Given the description of an element on the screen output the (x, y) to click on. 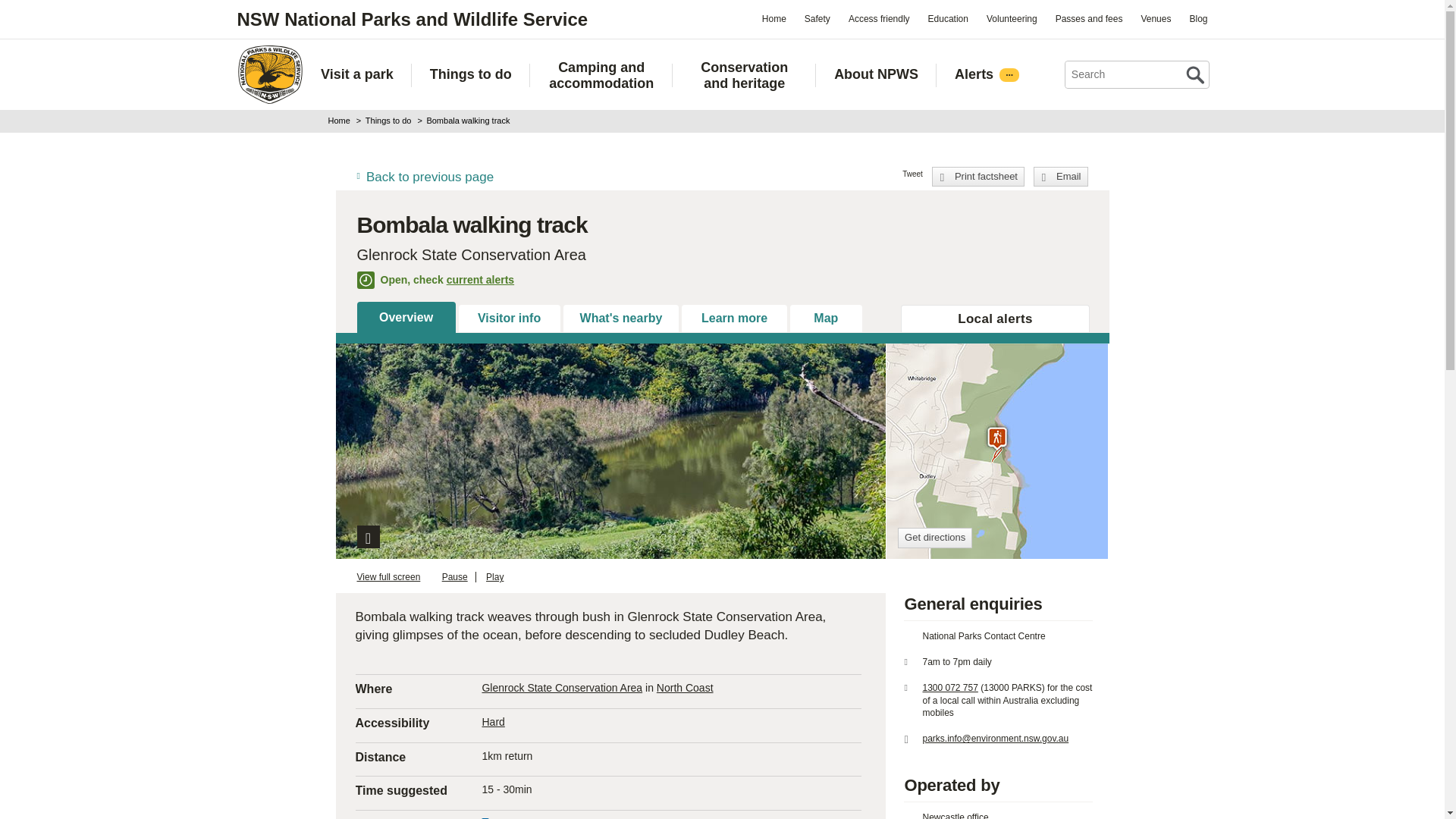
Conservation and heritage (743, 75)
About NPWS (876, 74)
Home (268, 74)
Visit a park (356, 74)
Venues (1155, 18)
Camping and accommodation (601, 75)
Blog (1197, 18)
Access friendly (879, 18)
View photo in full screen (367, 536)
Education (947, 18)
Things to do (470, 74)
Safety (816, 18)
Home (773, 18)
Passes and fees (1089, 18)
Print-friendly version of these webpages (978, 176)
